Given the description of an element on the screen output the (x, y) to click on. 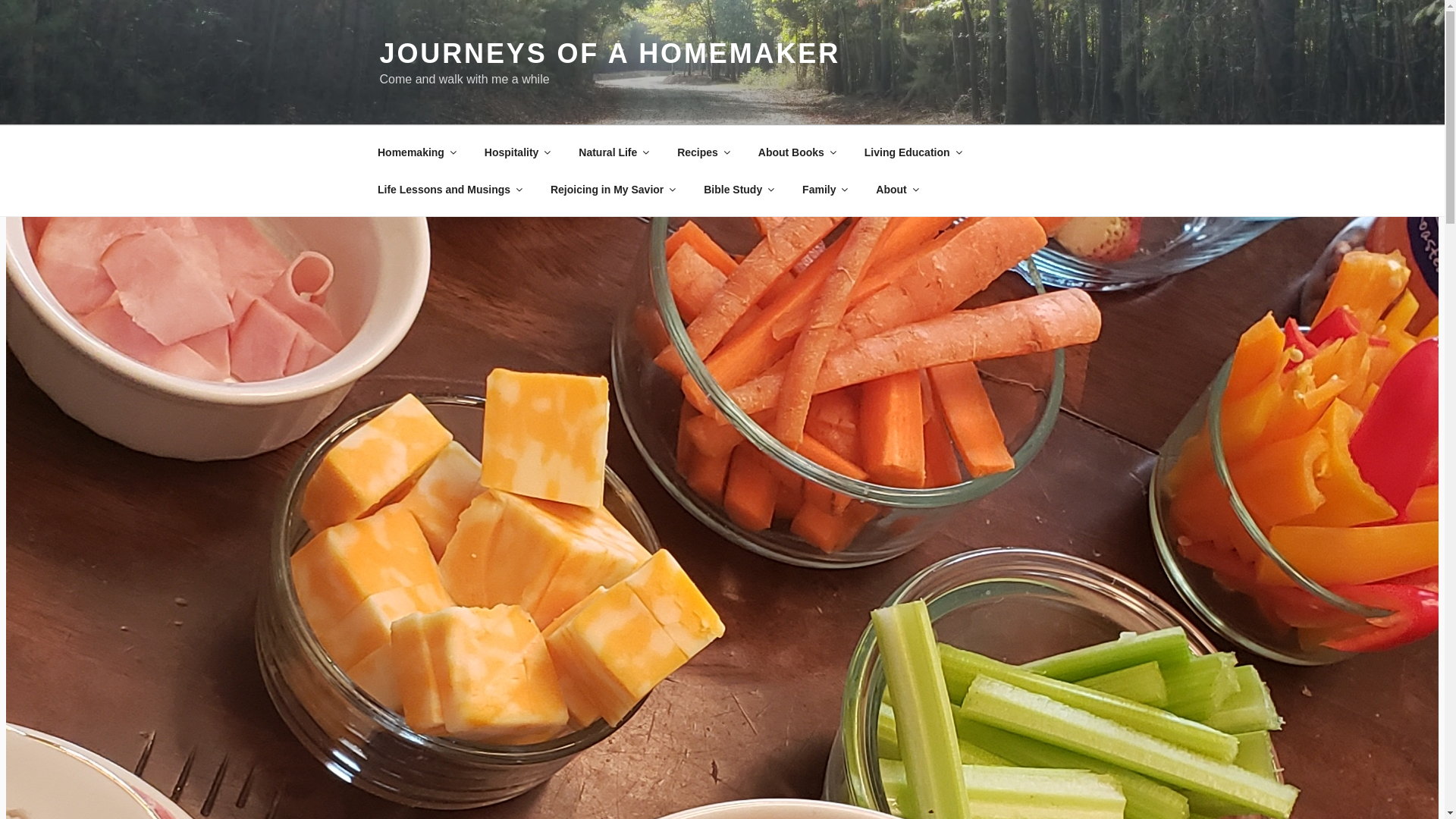
Homemaking (415, 151)
JOURNEYS OF A HOMEMAKER (609, 52)
